Given the description of an element on the screen output the (x, y) to click on. 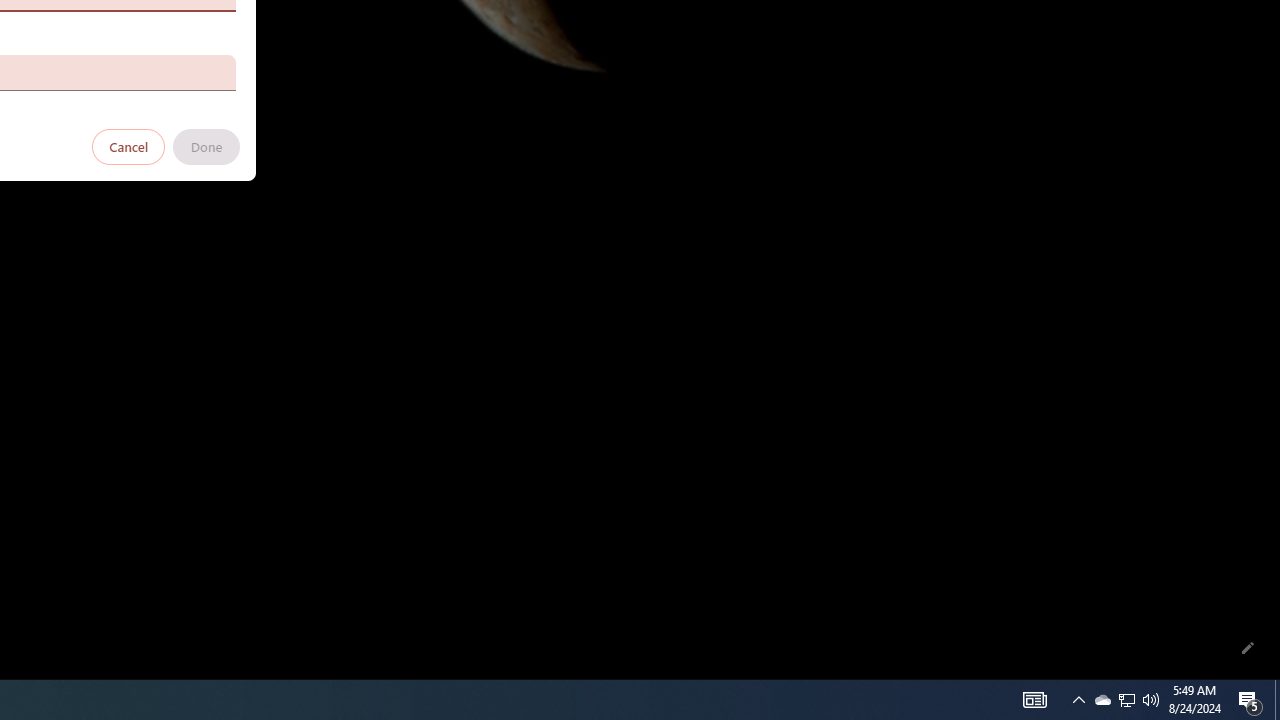
Done (206, 146)
Cancel (129, 146)
